Given the description of an element on the screen output the (x, y) to click on. 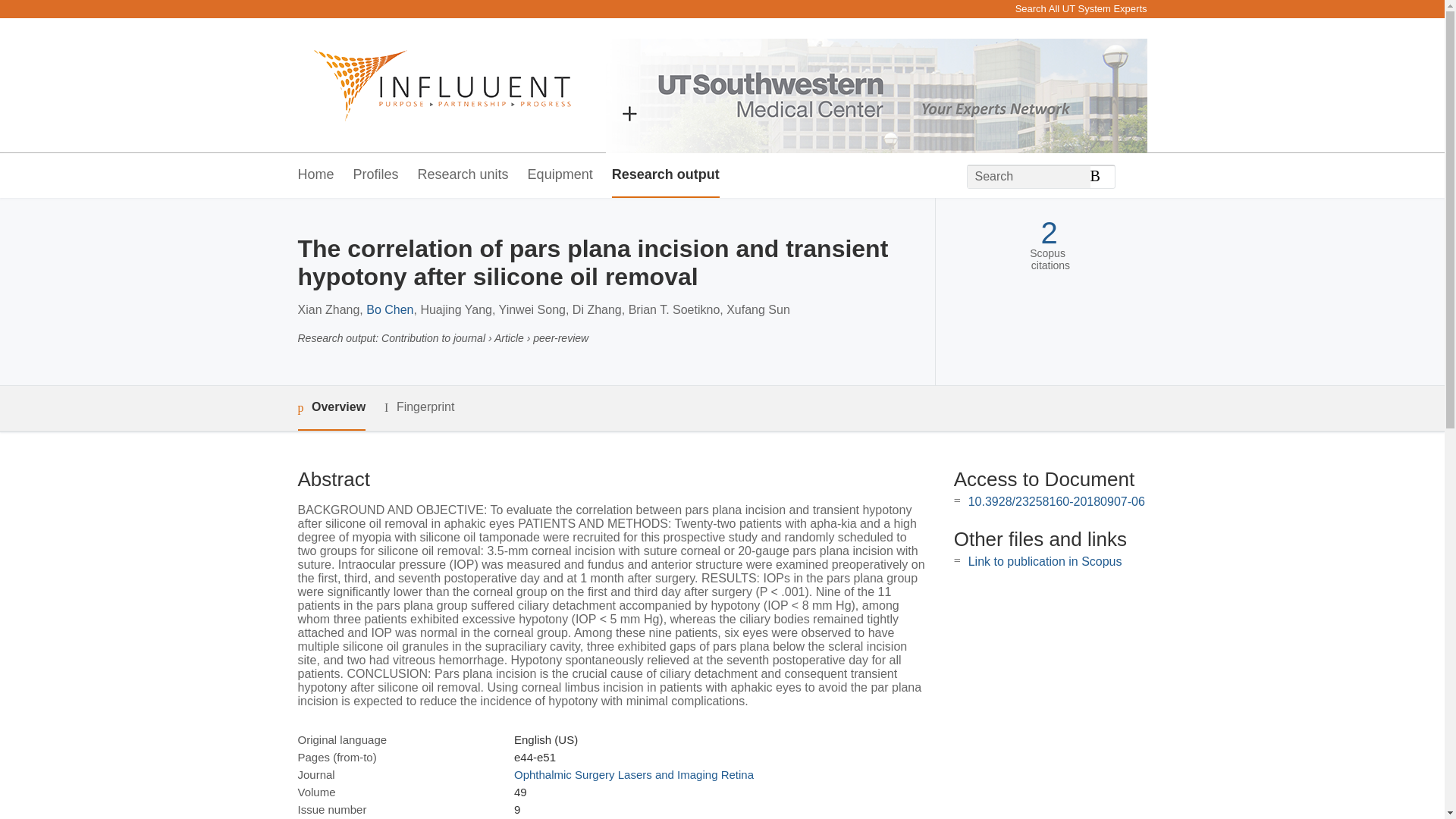
Profiles (375, 175)
Overview (331, 407)
Ophthalmic Surgery Lasers and Imaging Retina (633, 774)
Link to publication in Scopus (1045, 561)
Research units (462, 175)
Research output (665, 175)
University of Texas Southwestern Medical Center Home (434, 85)
Fingerprint (419, 407)
Equipment (559, 175)
Bo Chen (389, 309)
